Given the description of an element on the screen output the (x, y) to click on. 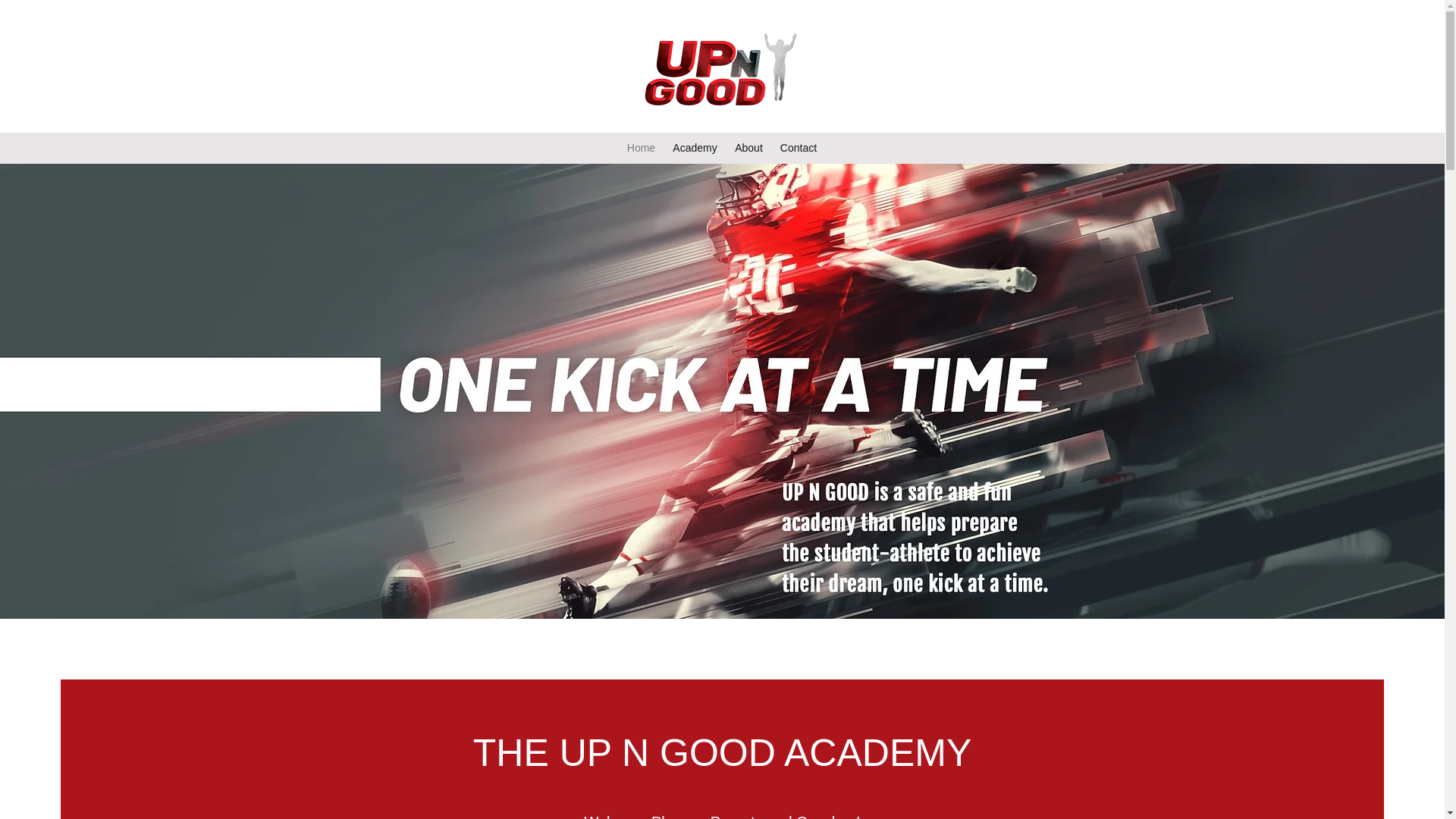
Academy (694, 147)
Contact (798, 147)
Home (640, 147)
About (748, 147)
